Given the description of an element on the screen output the (x, y) to click on. 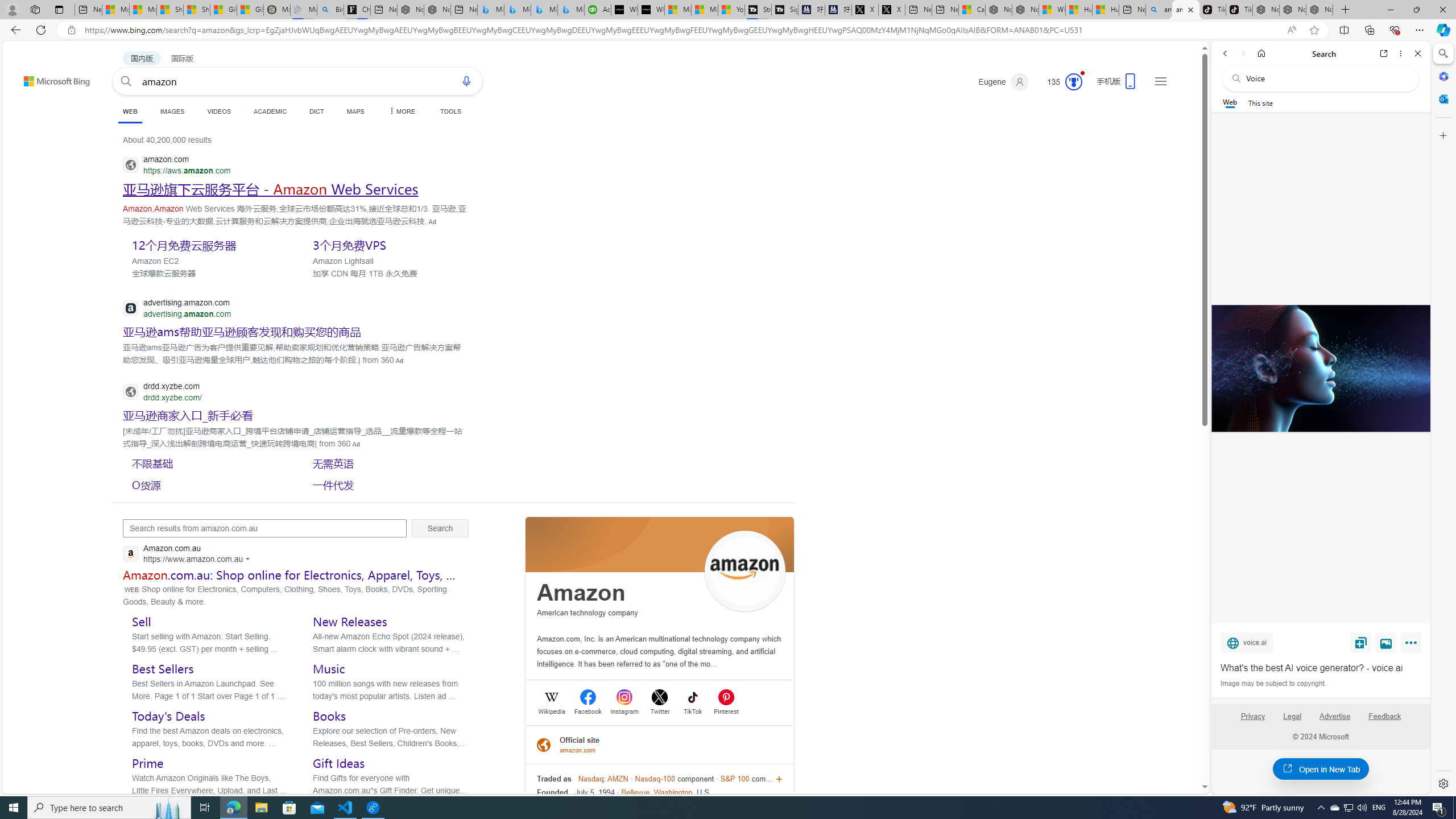
Nordace Siena Pro 15 Backpack (1292, 9)
Customize (1442, 135)
Microsoft 365 (1442, 76)
VIDEOS (218, 111)
SERP,5566 (187, 414)
